Given the description of an element on the screen output the (x, y) to click on. 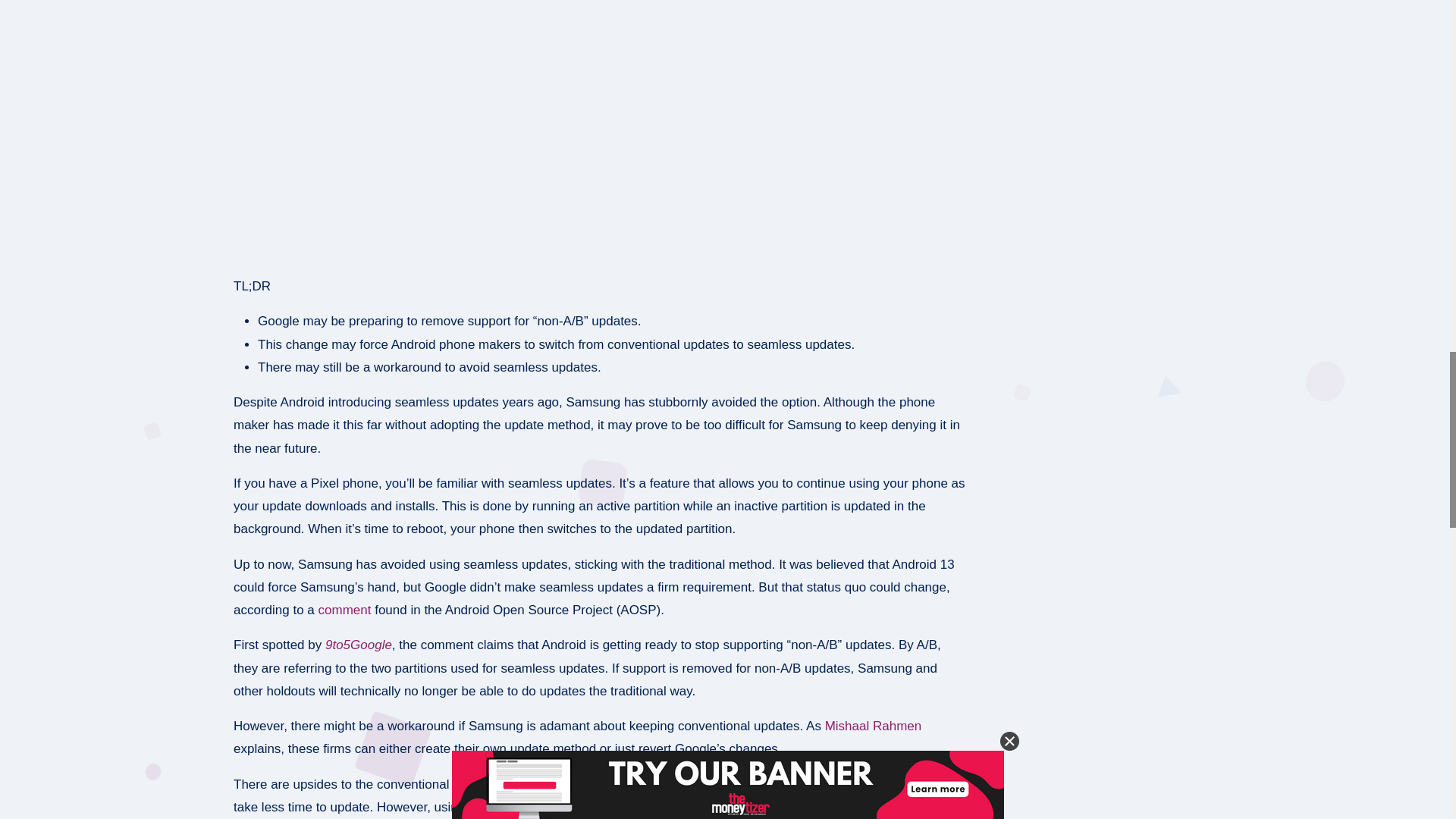
9to5Google (357, 644)
comment (344, 609)
Mishaal Rahmen (873, 726)
